Given the description of an element on the screen output the (x, y) to click on. 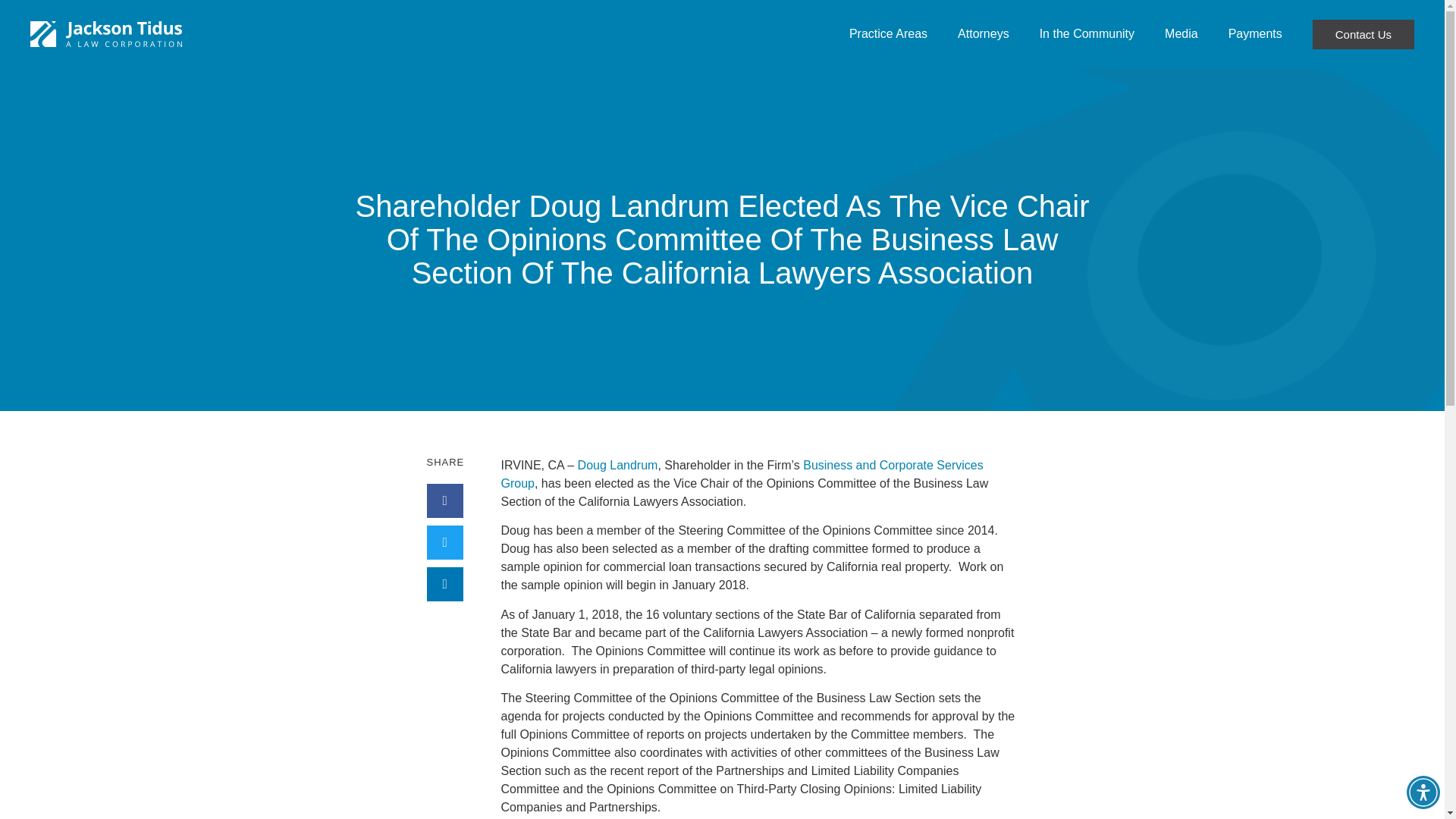
Payments (1254, 34)
Media (1181, 34)
Accessibility Menu (1422, 792)
Attorneys (983, 34)
In the Community (1087, 34)
Practice Areas (888, 34)
Contact Us (1363, 34)
